Given the description of an element on the screen output the (x, y) to click on. 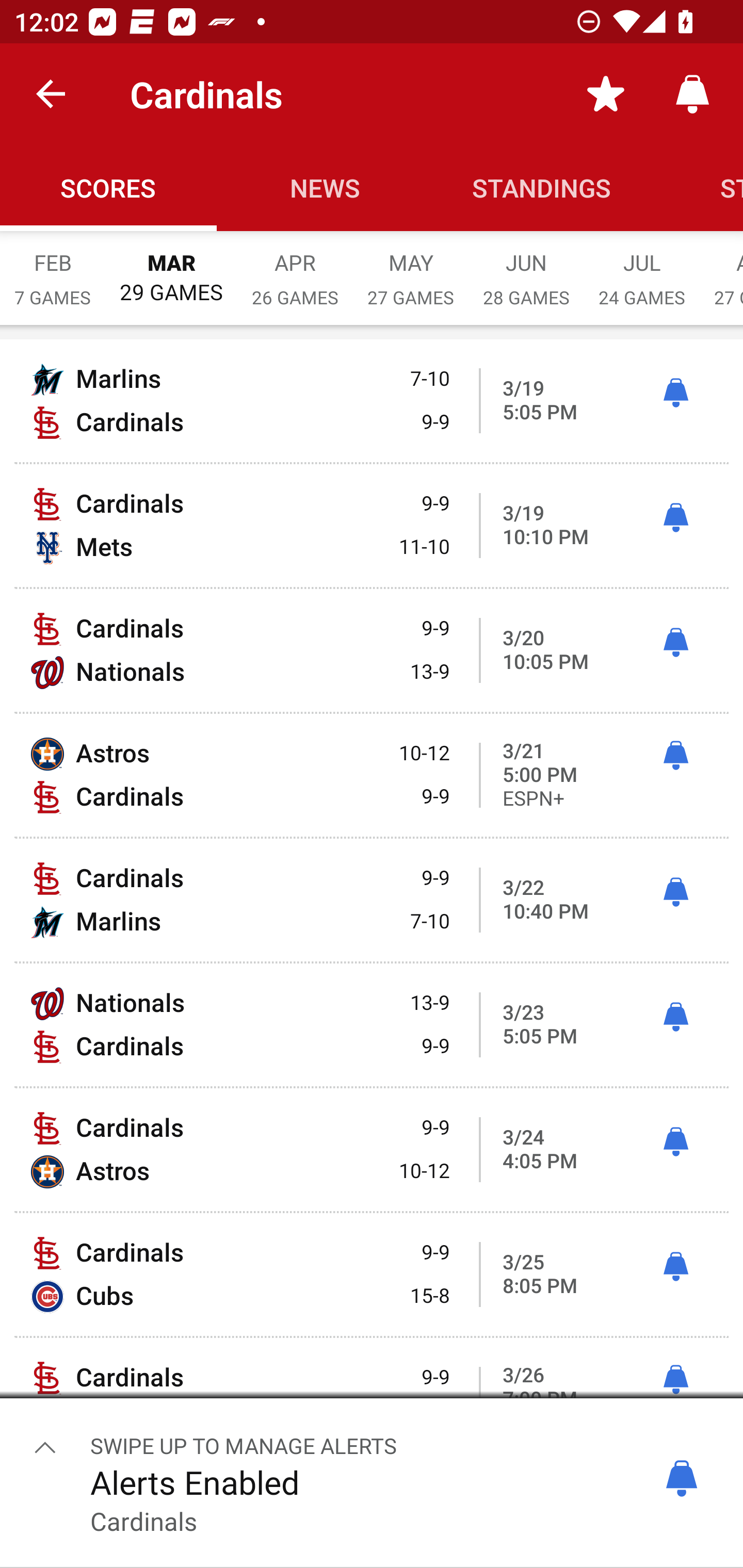
back.button (50, 93)
Favorite toggle (605, 93)
Alerts (692, 93)
News NEWS (324, 187)
Standings STANDINGS (541, 187)
FEB 7 GAMES (52, 268)
MAR 29 GAMES (171, 267)
APR 26 GAMES (294, 268)
MAY 27 GAMES (410, 268)
JUN 28 GAMES (525, 268)
JUL 24 GAMES (641, 268)
Marlins 7-10 Cardinals 9-9 3/19 5:05 PM ì (371, 400)
ì (675, 392)
Cardinals 9-9 Mets 11-10 3/19 10:10 PM ì (371, 525)
ì (675, 517)
Cardinals 9-9 Nationals 13-9 3/20 10:05 PM ì (371, 650)
ì (675, 642)
Astros 10-12 Cardinals 9-9 3/21 5:00 PM ì ESPN+ (371, 775)
ì (675, 755)
Cardinals 9-9 Marlins 7-10 3/22 10:40 PM ì (371, 899)
ì (675, 892)
Nationals 13-9 Cardinals 9-9 3/23 5:05 PM ì (371, 1024)
ì (675, 1016)
Cardinals 9-9 Astros 10-12 3/24 4:05 PM ì (371, 1149)
ì (675, 1141)
Cardinals 9-9 Cubs 15-8 3/25 8:05 PM ì (371, 1274)
ì (675, 1266)
Cardinals 9-9 Cubs 15-8 3/26 7:00 PM ì ESPN+ (371, 1399)
ì (675, 1379)
 (44, 1446)
Cardinals 0-0 Dodgers 0-0 3/28 8:10 PM ì (371, 1515)
